Given the description of an element on the screen output the (x, y) to click on. 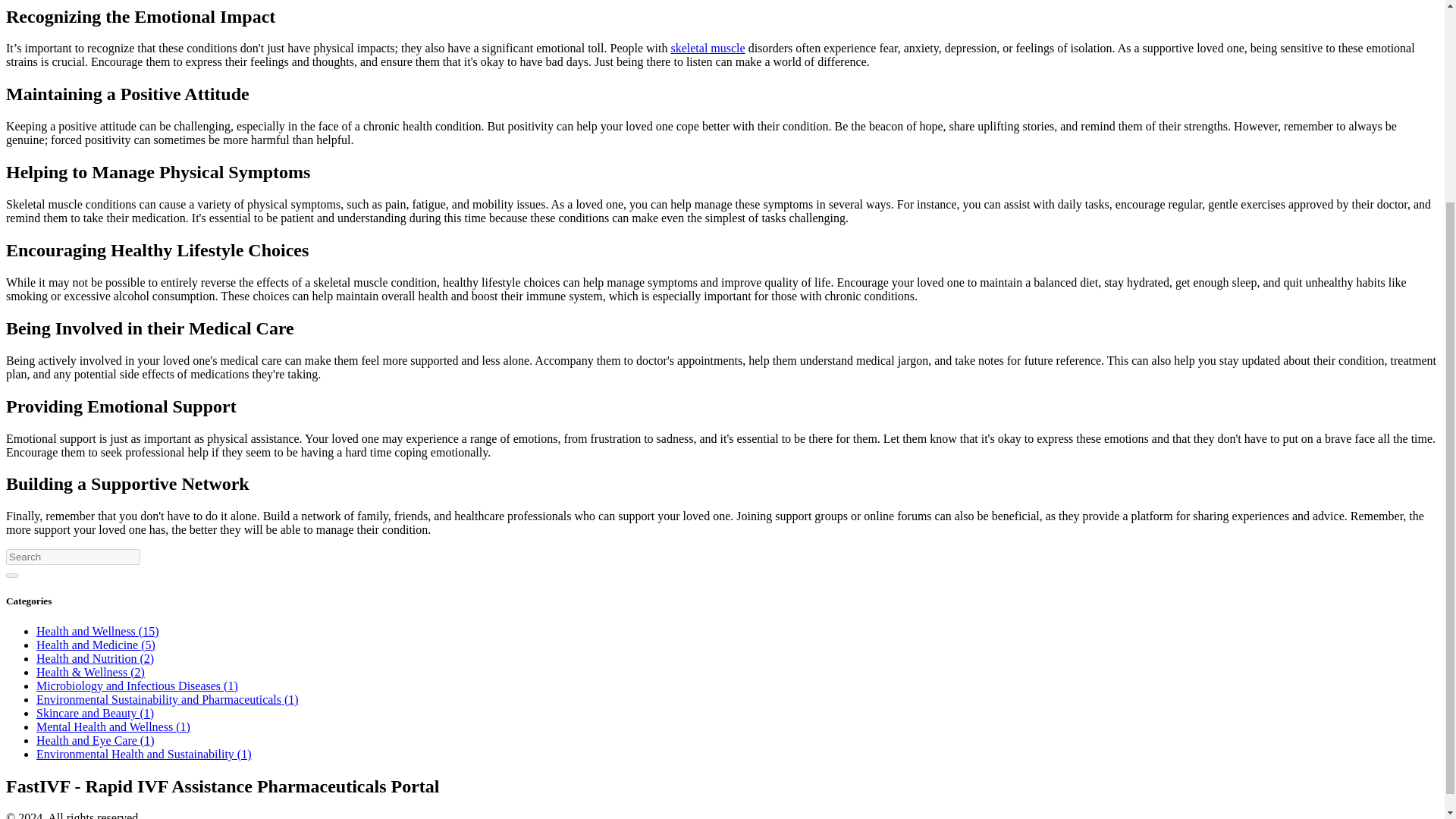
skeletal muscle (706, 47)
AKT controls protein synthesis and oxidative metabolism ... (706, 47)
